Given the description of an element on the screen output the (x, y) to click on. 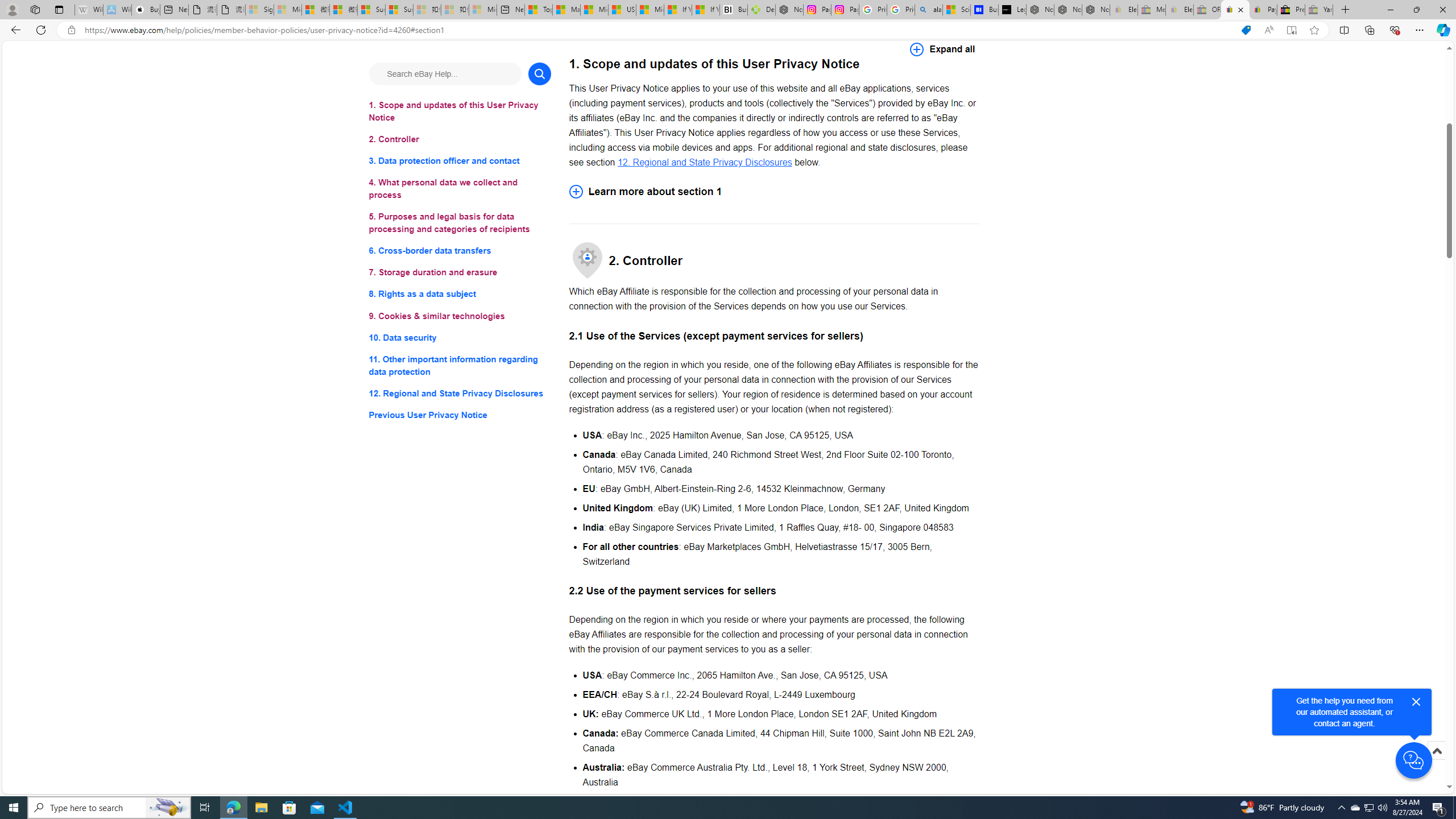
Buy iPad - Apple (145, 9)
2. Controller (459, 138)
Expand all (942, 49)
12. Regional and State Privacy Disclosures (704, 162)
Scroll to top (1435, 750)
Microsoft account | Account Checkup - Sleeping (483, 9)
3. Data protection officer and contact (459, 160)
Previous User Privacy Notice (459, 414)
